Given the description of an element on the screen output the (x, y) to click on. 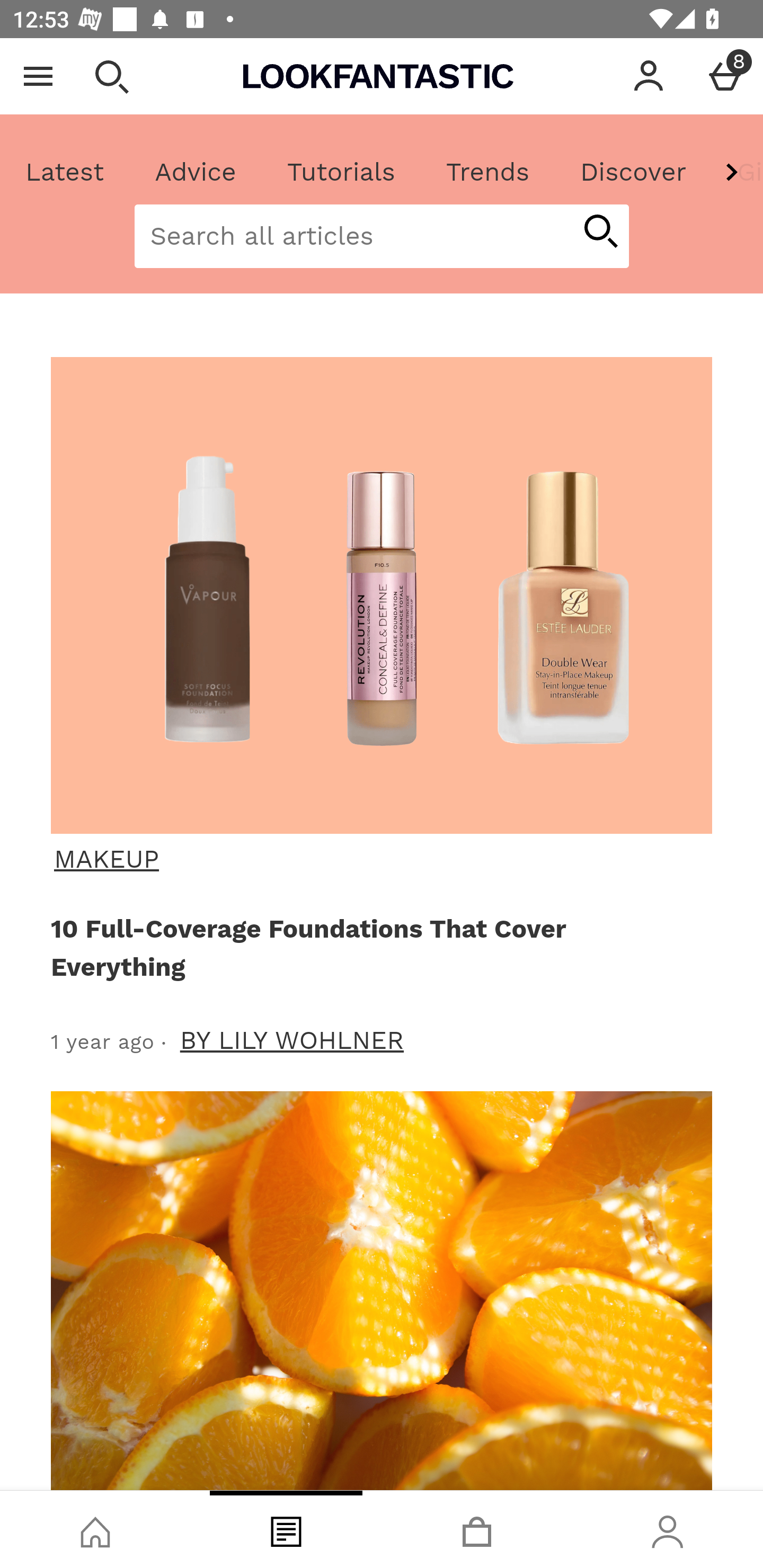
Open Menu (38, 75)
Open search (111, 75)
Account (648, 75)
Basket Menu (724, 75)
Latest (65, 172)
Advice (195, 172)
Tutorials (340, 172)
Trends (486, 172)
Discover (632, 172)
Gift Guide (736, 172)
start article search (599, 232)
MAKEUP (379, 858)
10 Full-Coverage Foundations That Cover Everything (377, 947)
BY LILY WOHLNER (292, 1040)
Shop, tab, 1 of 4 (95, 1529)
Blog, tab, 2 of 4 (285, 1529)
Basket, tab, 3 of 4 (476, 1529)
Account, tab, 4 of 4 (667, 1529)
